Given the description of an element on the screen output the (x, y) to click on. 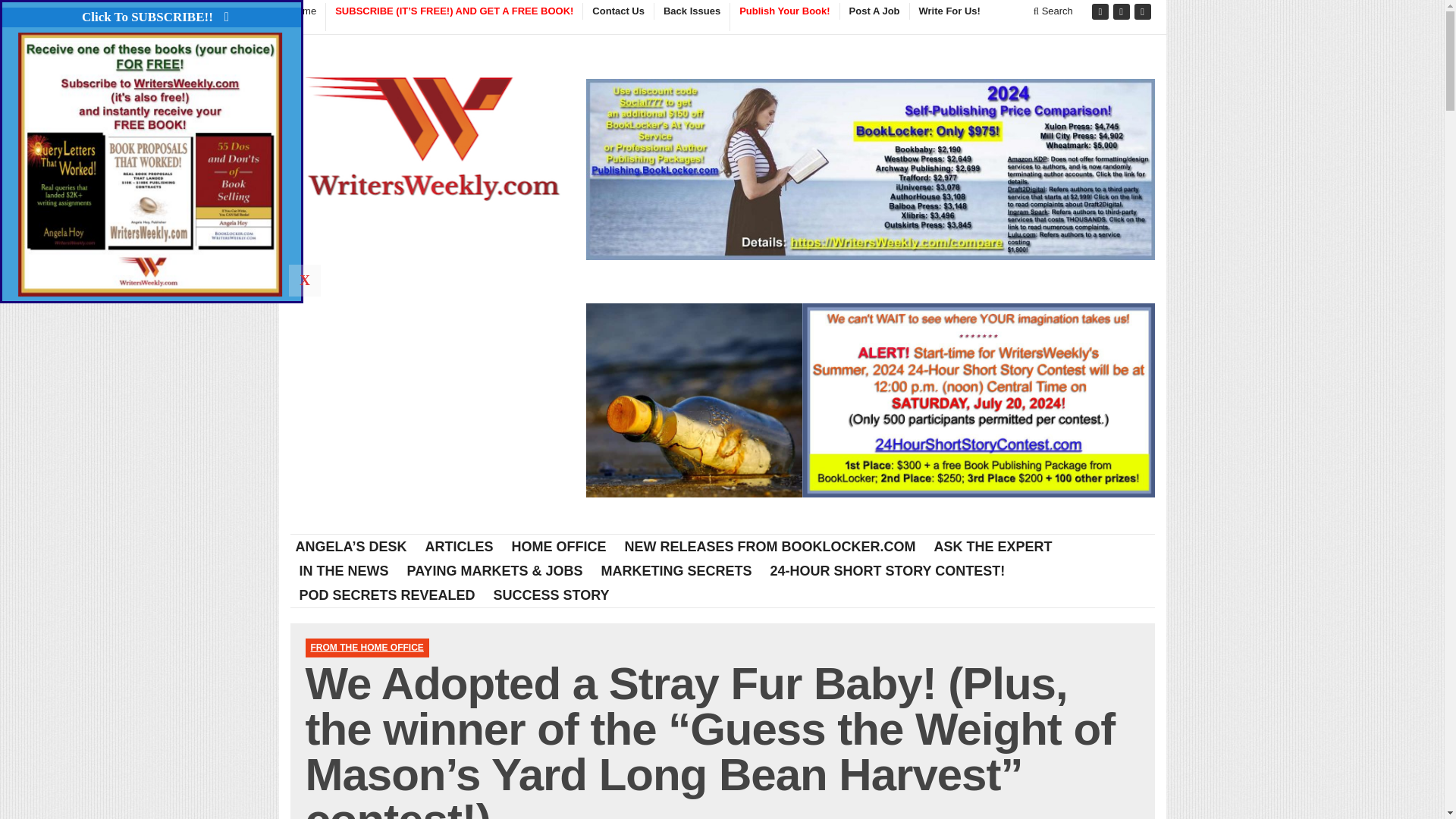
WritersWeekly.com (433, 143)
24-HOUR SHORT STORY CONTEST! (887, 570)
MARKETING SECRETS (676, 570)
Twitter (1123, 11)
Back Issues (691, 11)
Search (1053, 11)
NEW RELEASES FROM BOOKLOCKER.COM (769, 546)
HOME OFFICE (558, 546)
Site feed (1144, 11)
ARTICLES (459, 546)
Publish Your Book! (783, 17)
IN THE NEWS (343, 570)
ASK THE EXPERT (992, 546)
Facebook (1101, 11)
